Given the description of an element on the screen output the (x, y) to click on. 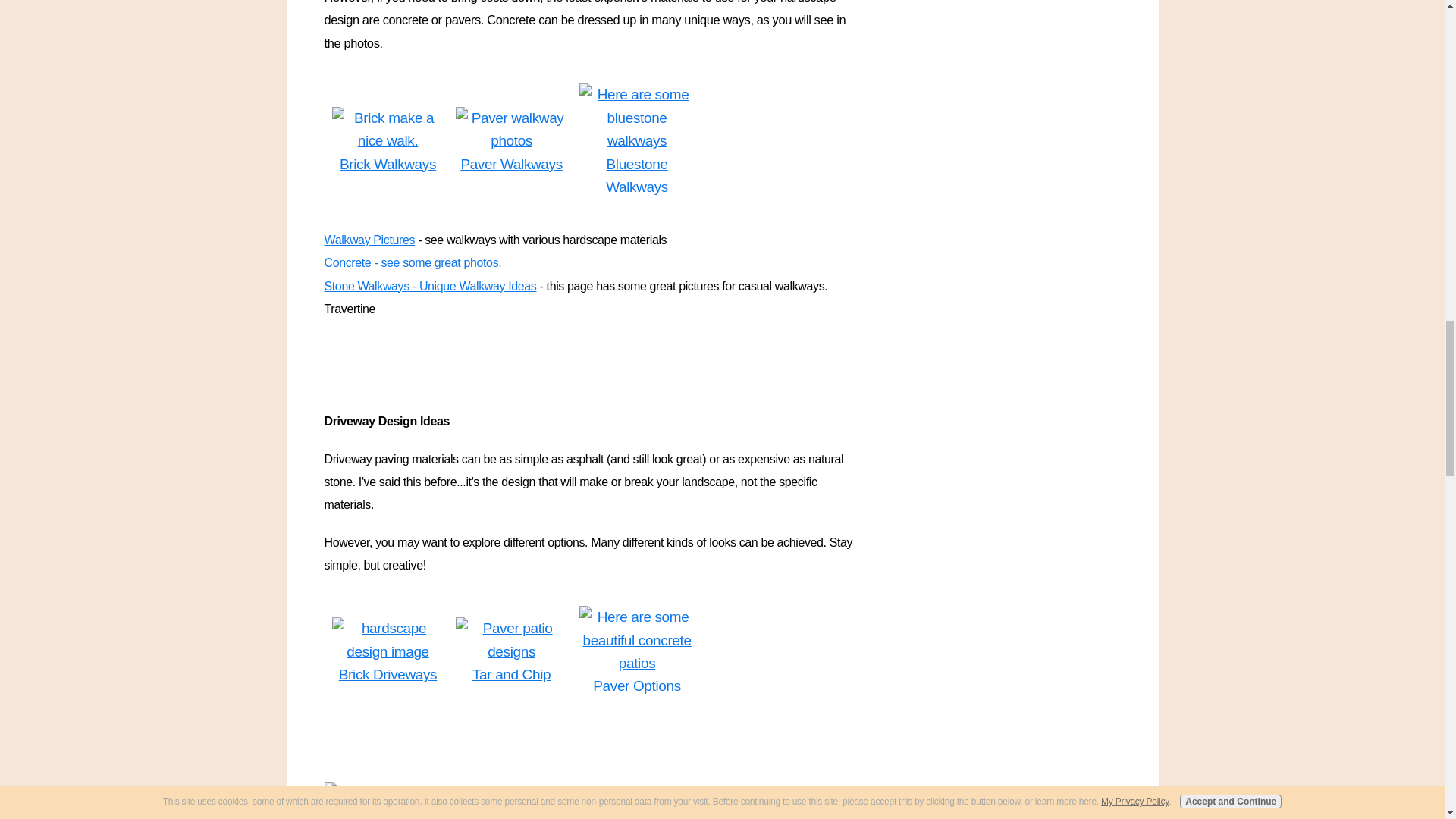
brick walkway pictures (387, 130)
see some great paver patio pictures (511, 640)
go to bluestone walkways (637, 117)
go to the concrete patio page (637, 640)
go to patio pictures (387, 640)
A fountain near a lovely hardscape wall (449, 793)
see some great paver walkway pictures pictures (511, 130)
